Given the description of an element on the screen output the (x, y) to click on. 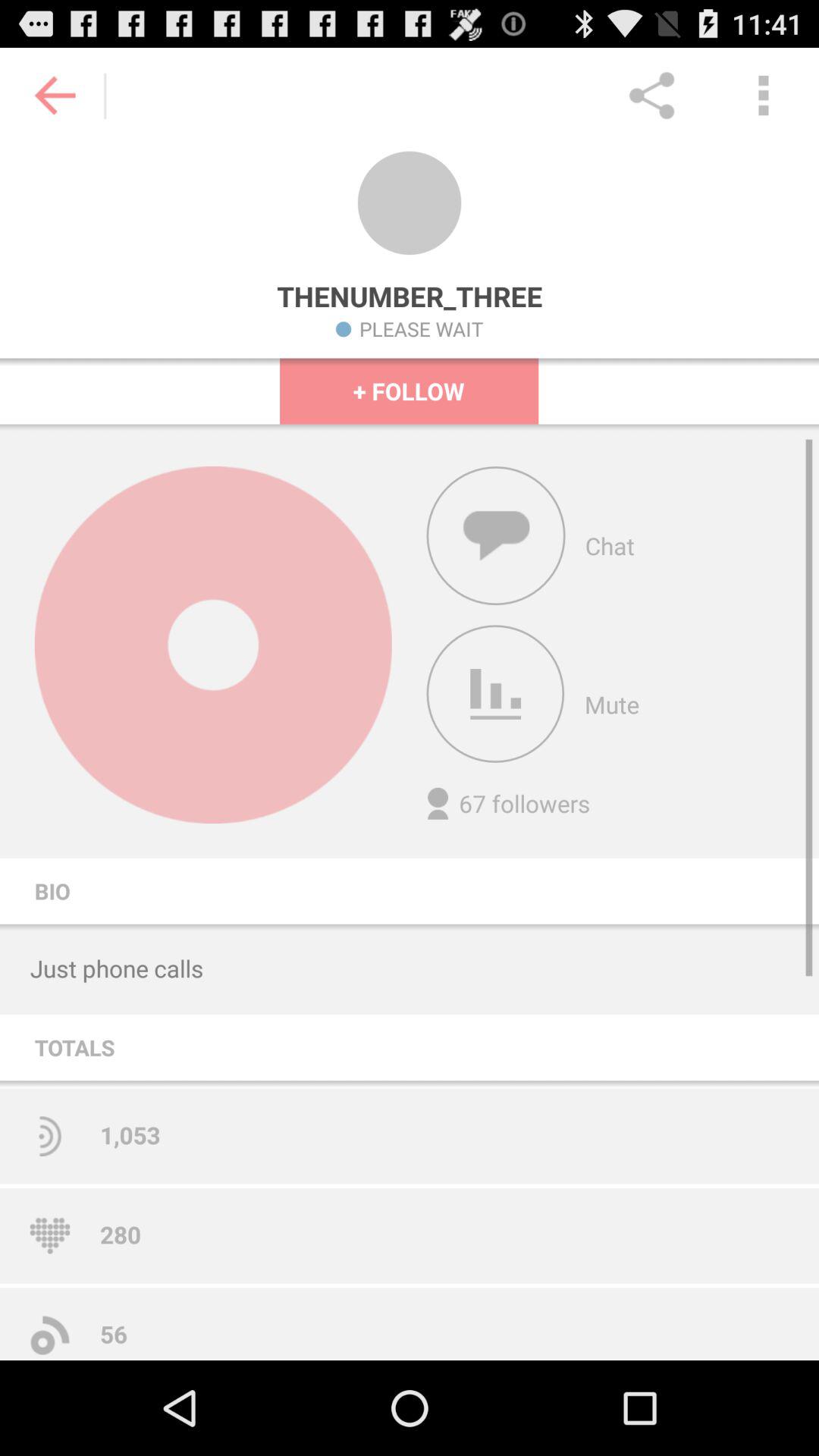
click the three dots button on the top right corner of the web page (763, 95)
click on the icon beside mute (495, 693)
select the heart image (49, 1235)
click on the image which is on left side of chat (495, 535)
